Given the description of an element on the screen output the (x, y) to click on. 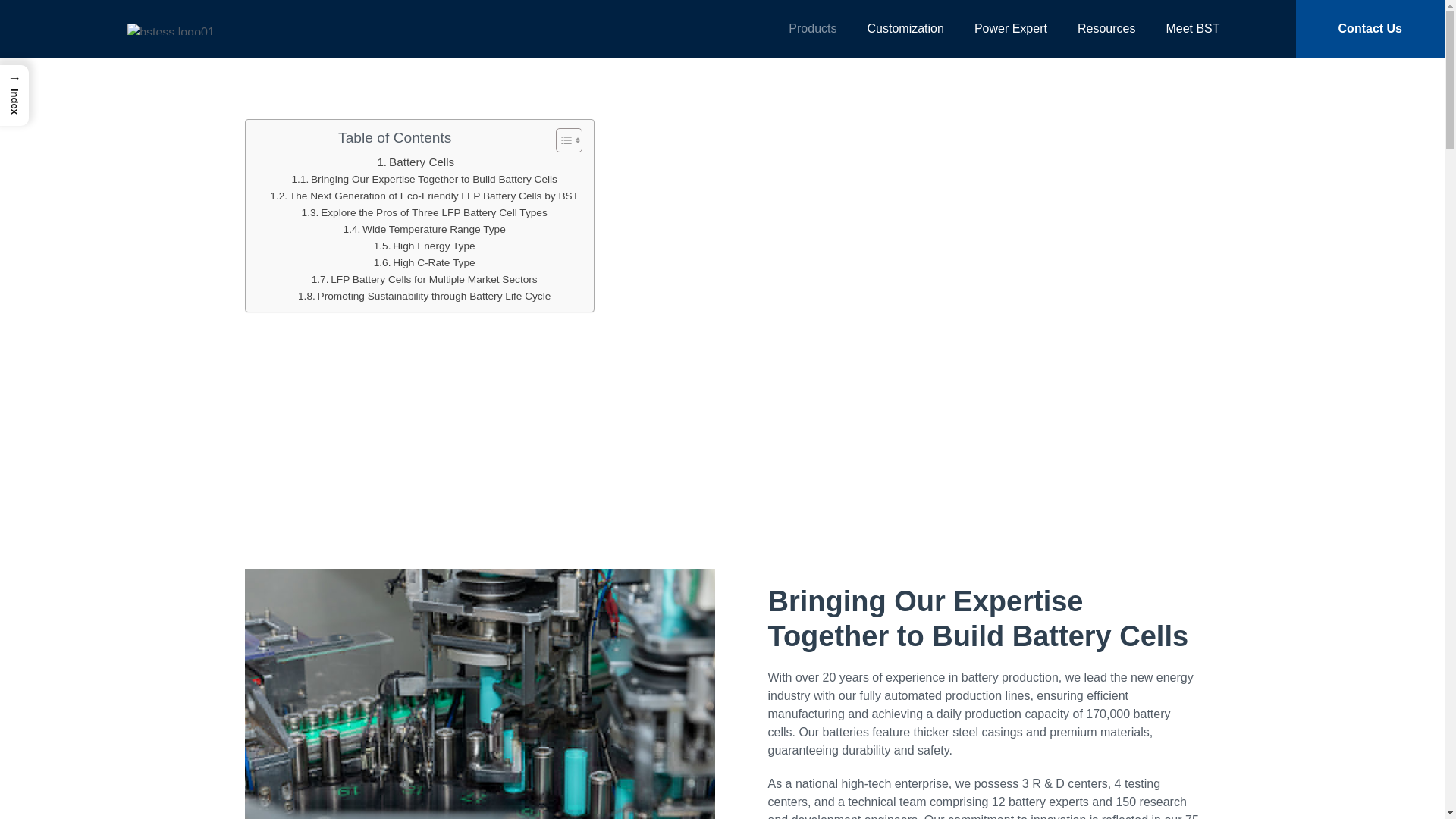
Battery Cells (751, 393)
The Next Generation of Eco-Friendly LFP Battery Cells by BST (425, 262)
Promoting Sustainability through Battery Life Cycle (423, 196)
Customization (424, 296)
Home (424, 229)
LFP Battery Cells for Multiple Market Sectors (905, 28)
Explore the Pros of Three LFP Battery Cell Types (671, 393)
Bringing Our Expertise Together to Build Battery Cells (424, 279)
